Given the description of an element on the screen output the (x, y) to click on. 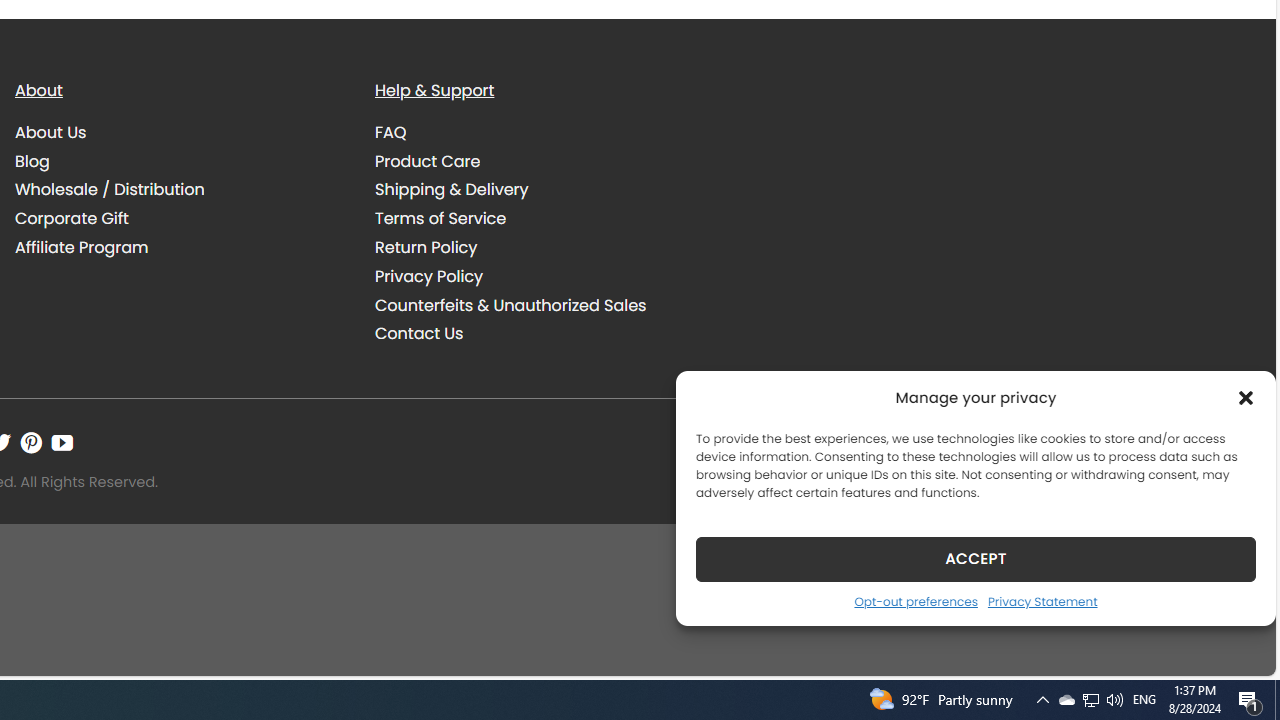
Affiliate Program (81, 247)
Shipping & Delivery (540, 190)
Contact Us (540, 334)
Shipping & Delivery (451, 189)
Terms of Service (440, 219)
FAQ (391, 132)
FAQ (540, 132)
Go to top (1234, 647)
Wholesale / Distribution (109, 189)
Counterfeits & Unauthorized Sales (510, 304)
Opt-out preferences (915, 601)
Blog (180, 161)
Terms of Service (540, 218)
Class: cmplz-close (1245, 397)
About Us (51, 132)
